Given the description of an element on the screen output the (x, y) to click on. 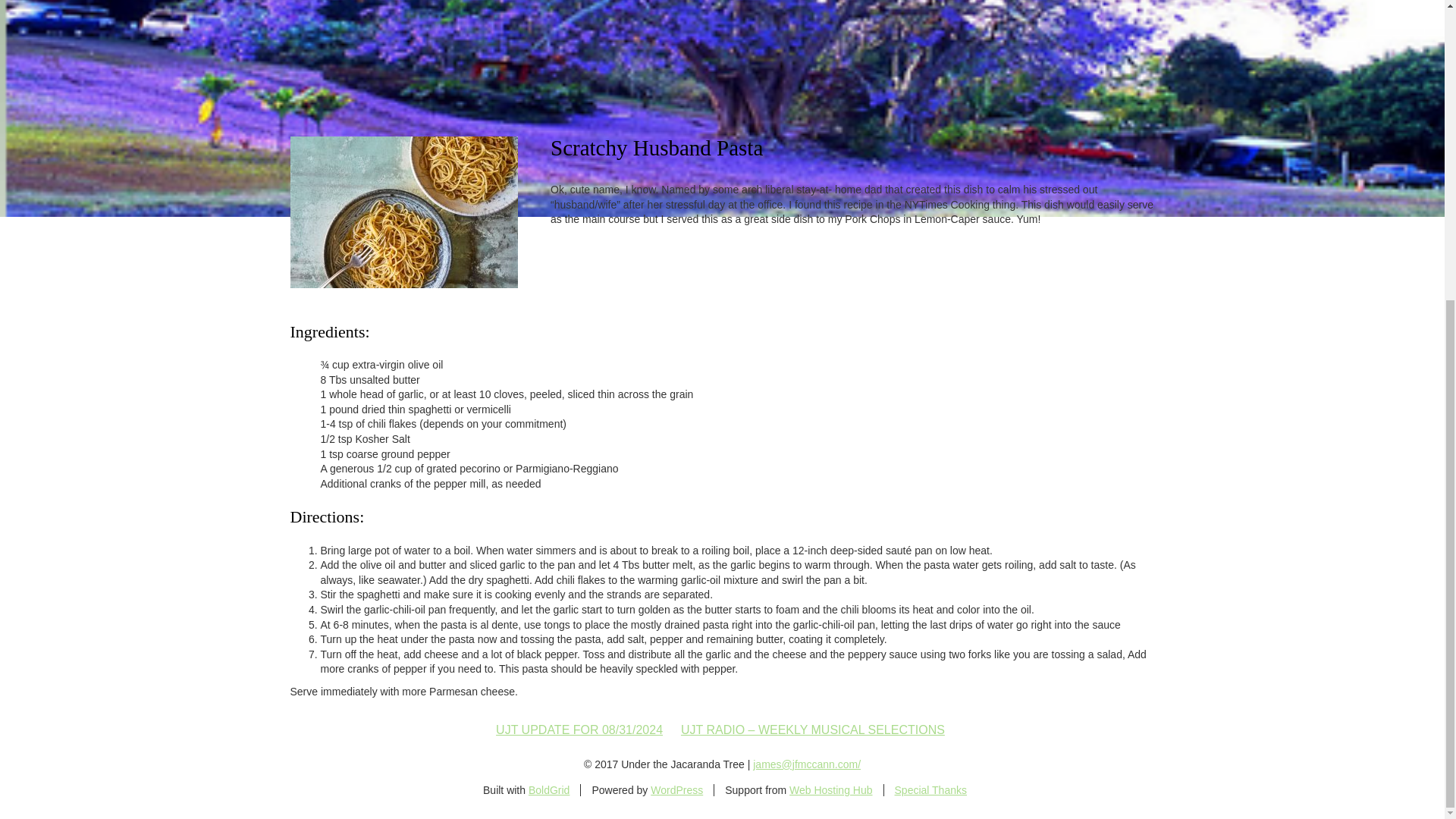
Web Hosting Hub (830, 789)
WordPress (676, 789)
Special Thanks (930, 789)
BoldGrid (548, 789)
